Given the description of an element on the screen output the (x, y) to click on. 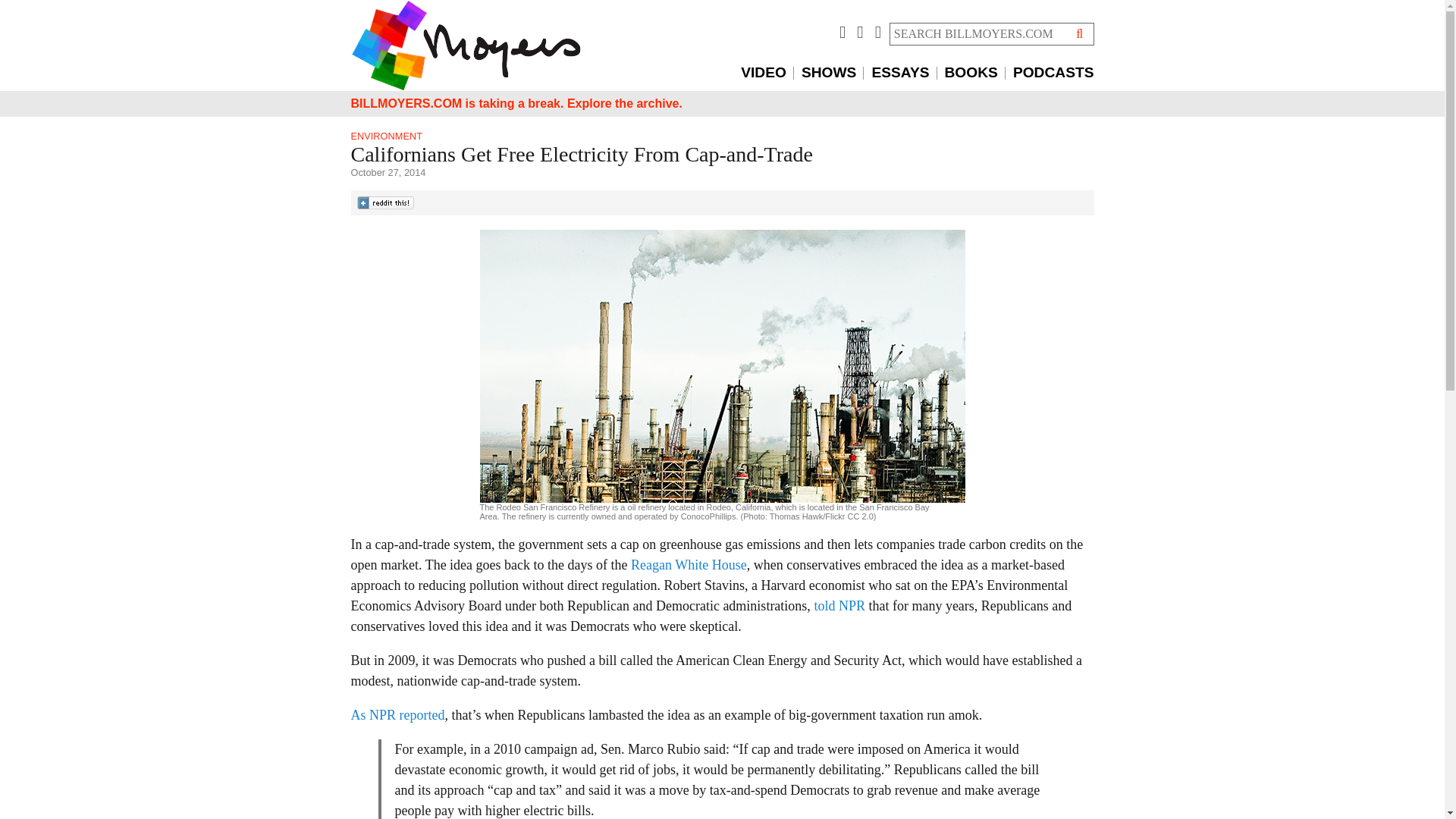
told NPR (840, 605)
ENVIRONMENT (386, 135)
BOOKS (975, 72)
VIDEO (767, 72)
BILLMOYERS.COM is taking a break. Explore the archive. (515, 103)
Reagan White House (688, 564)
As NPR reported (397, 714)
ESSAYS (903, 72)
PODCASTS (1053, 72)
SHOWS (833, 72)
